Given the description of an element on the screen output the (x, y) to click on. 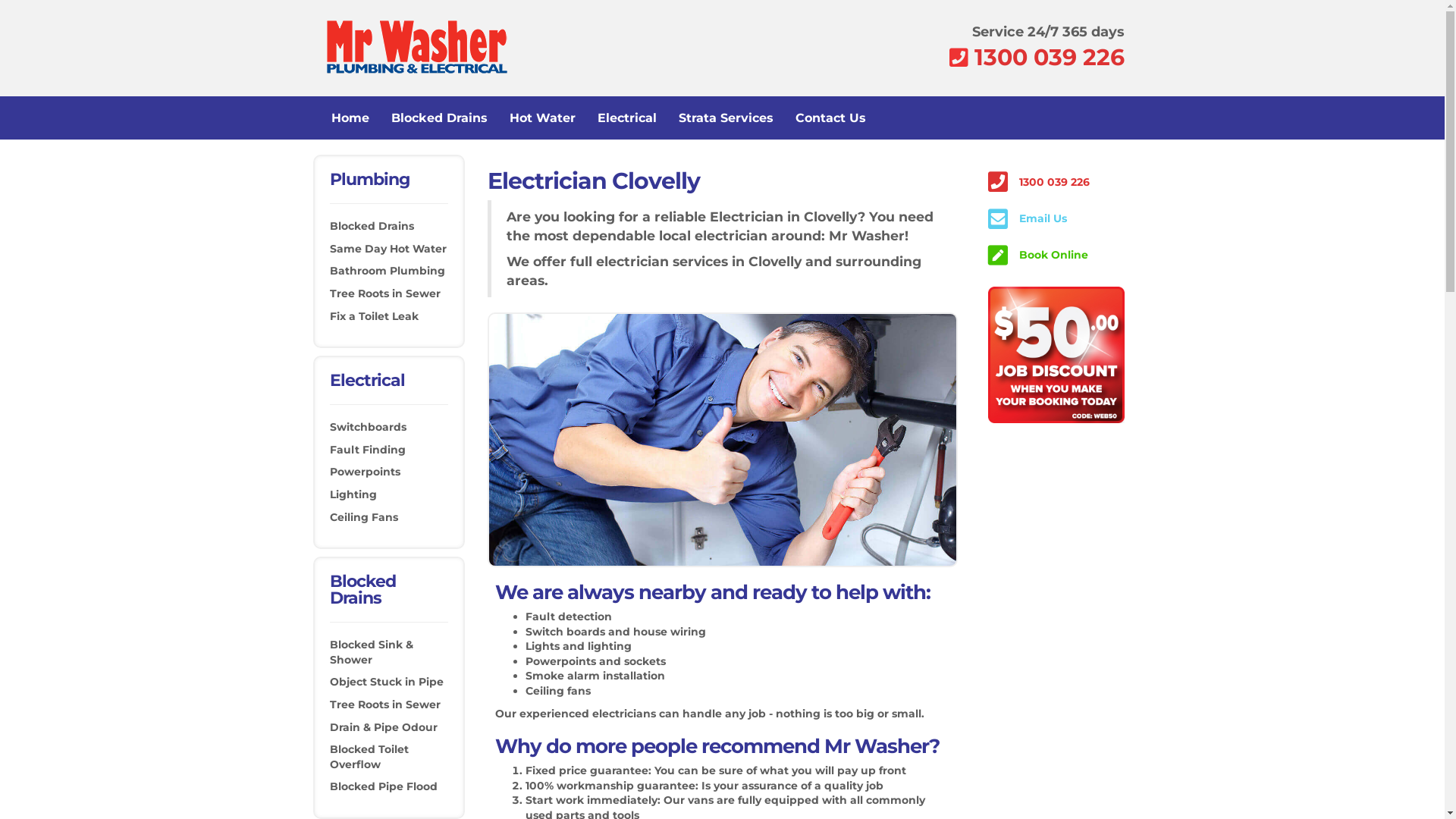
Blocked Toilet Overflow Element type: text (368, 756)
Object Stuck in Pipe Element type: text (385, 681)
Fault Finding Element type: text (366, 449)
Email Us Element type: text (1042, 218)
Powerpoints Element type: text (364, 471)
Book Online Element type: text (1053, 254)
Contact Us Element type: text (829, 117)
Ceiling Fans Element type: text (363, 517)
Blocked Sink & Shower Element type: text (370, 651)
Same Day Hot Water Element type: text (387, 248)
Lighting Element type: text (352, 494)
Electrical Element type: text (626, 117)
Strata Services Element type: text (725, 117)
Blocked Drains Element type: text (371, 225)
Blocked Drains Element type: text (439, 117)
Bathroom Plumbing Element type: text (386, 270)
Hot Water Element type: text (542, 117)
Blocked Pipe Flood Element type: text (382, 786)
1300 039 226 Element type: text (1048, 57)
plumbing and electrical special offer Element type: hover (1055, 354)
Home Element type: text (349, 117)
Tree Roots in Sewer Element type: text (384, 704)
1300 039 226 Element type: text (1054, 181)
Drain & Pipe Odour Element type: text (382, 727)
mr washer plumbing and electrical logo Element type: hover (413, 46)
Fix a Toilet Leak Element type: text (373, 316)
Switchboards Element type: text (367, 426)
Tree Roots in Sewer Element type: text (384, 293)
